Given the description of an element on the screen output the (x, y) to click on. 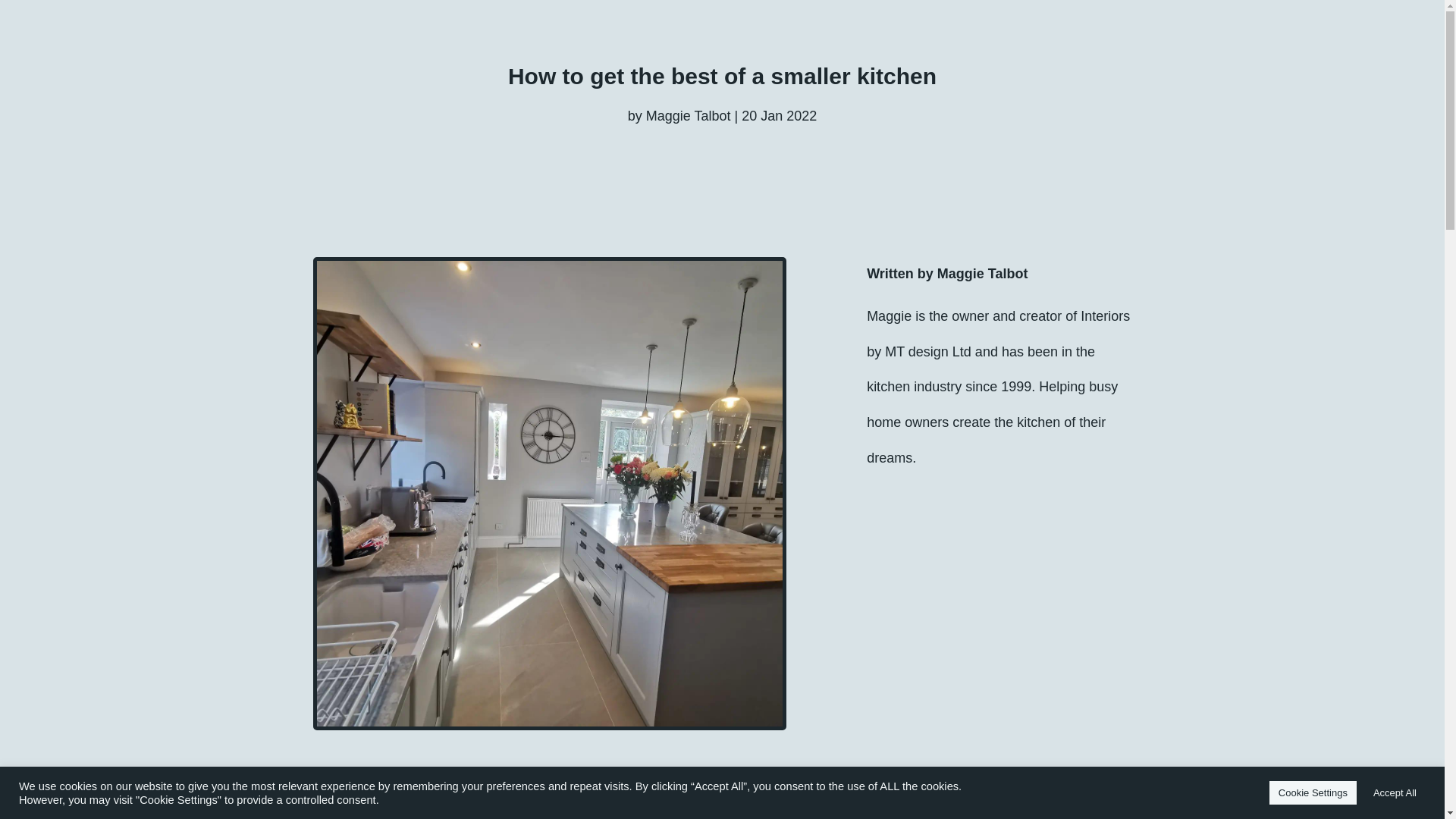
Accept All (1394, 792)
Posts by Maggie Talbot (688, 115)
Cookie Settings (1312, 792)
Maggie Talbot (688, 115)
